Given the description of an element on the screen output the (x, y) to click on. 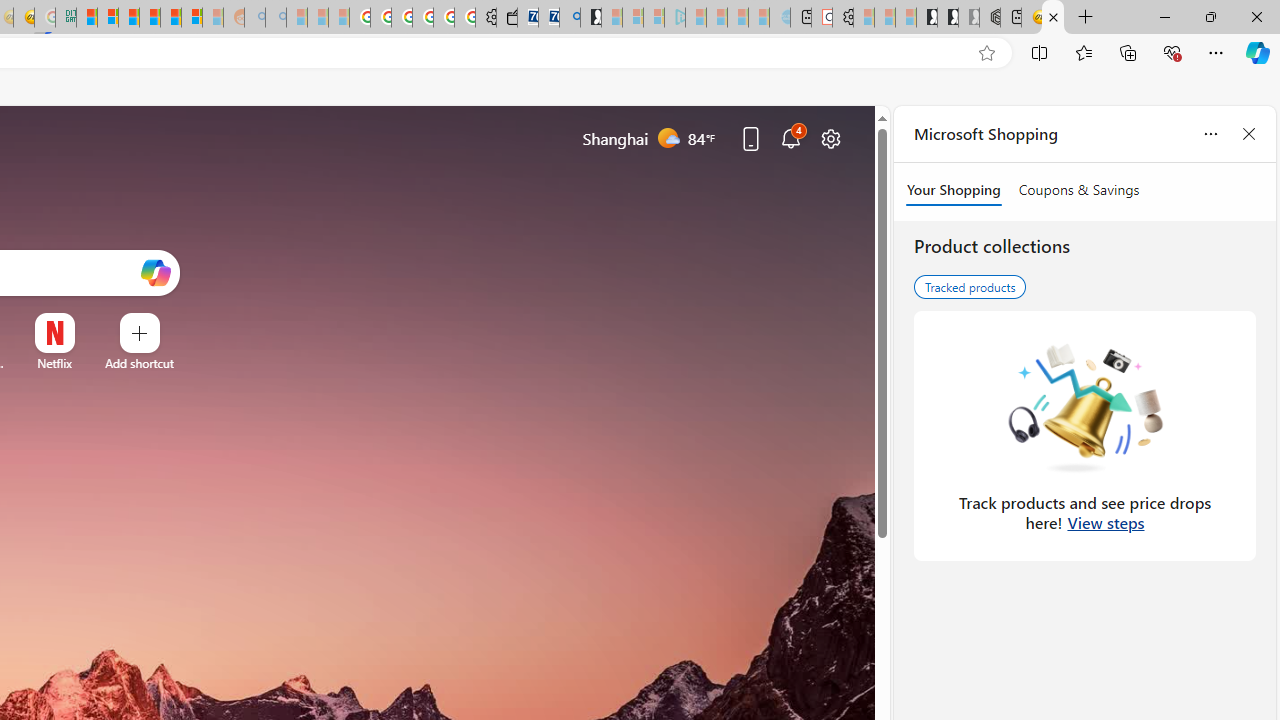
Wallet (506, 17)
Mostly sunny (667, 137)
Home | Sky Blue Bikes - Sky Blue Bikes - Sleeping (779, 17)
Netflix (54, 363)
Microsoft Start Gaming (591, 17)
